Given the description of an element on the screen output the (x, y) to click on. 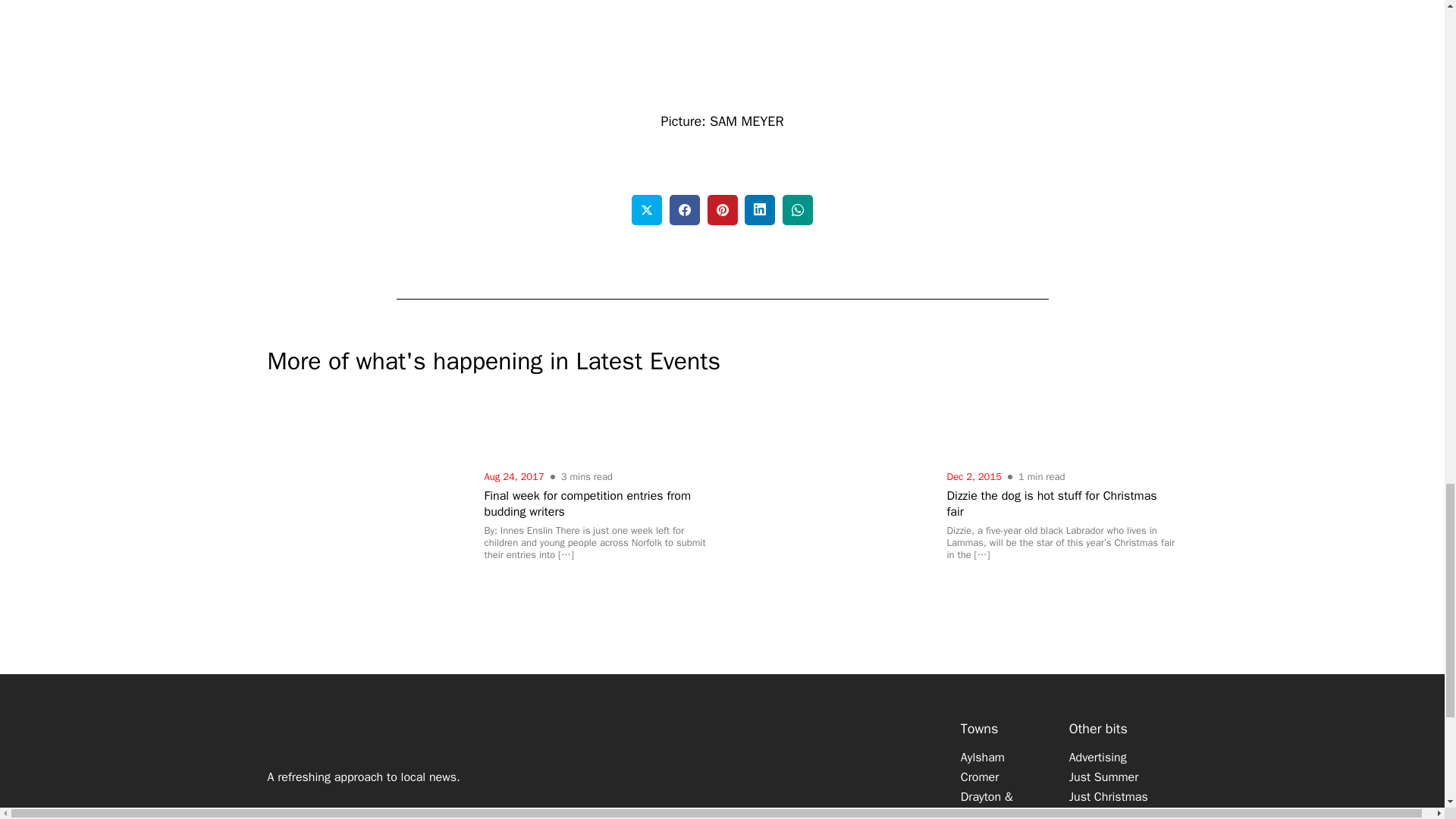
7D5C7357 (721, 47)
Aylsham (982, 757)
Cromer (979, 776)
